Given the description of an element on the screen output the (x, y) to click on. 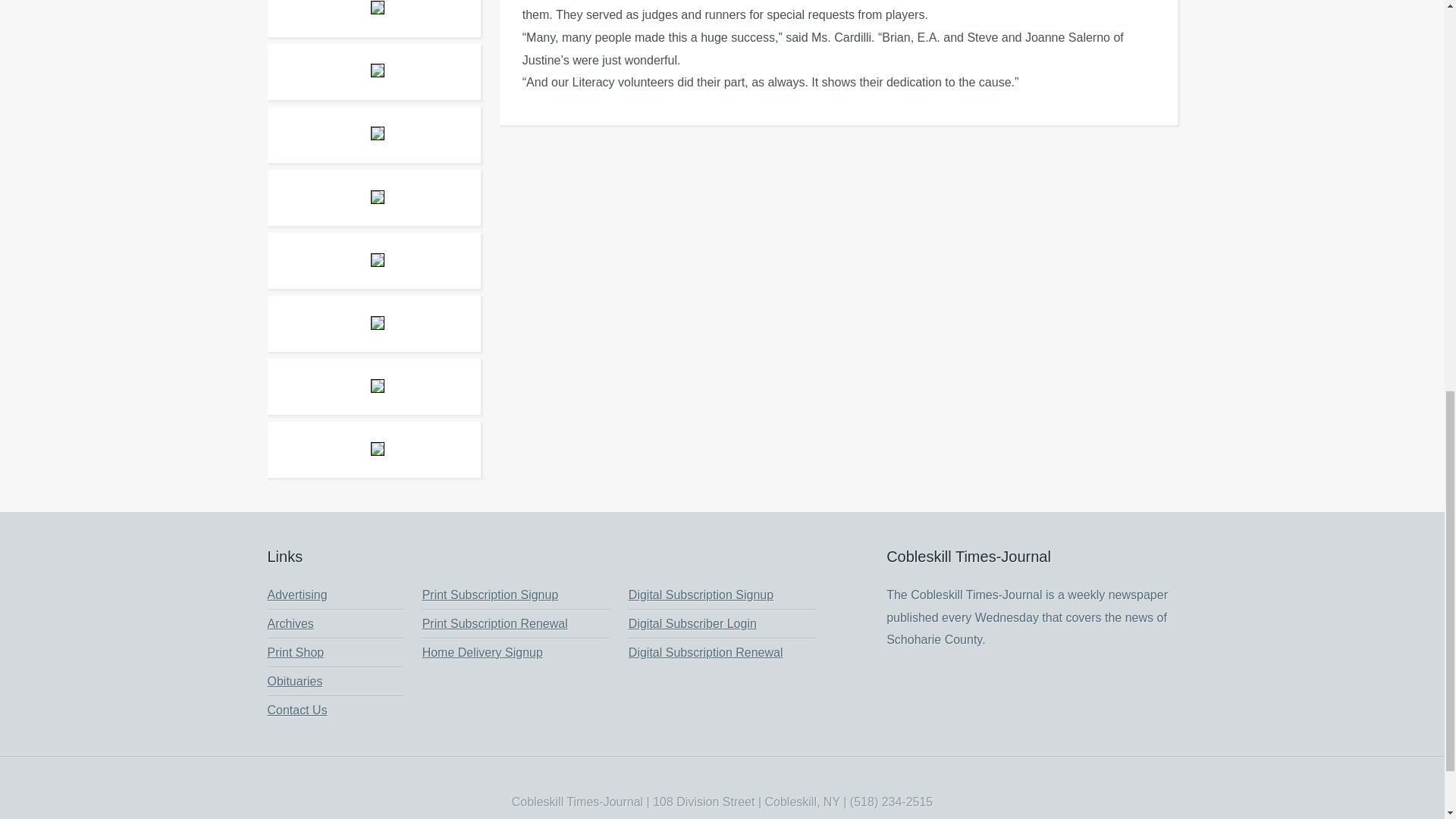
Contact Us (296, 709)
Print Shop (294, 652)
Print Subscription Renewal (494, 623)
Print Subscription Signup (490, 594)
Home Delivery Signup (482, 652)
Advertising (296, 594)
Digital Subscriber Login (692, 623)
Digital Subscription Renewal (705, 652)
Obituaries (293, 680)
Archives (289, 623)
Digital Subscription Signup (700, 594)
